Given the description of an element on the screen output the (x, y) to click on. 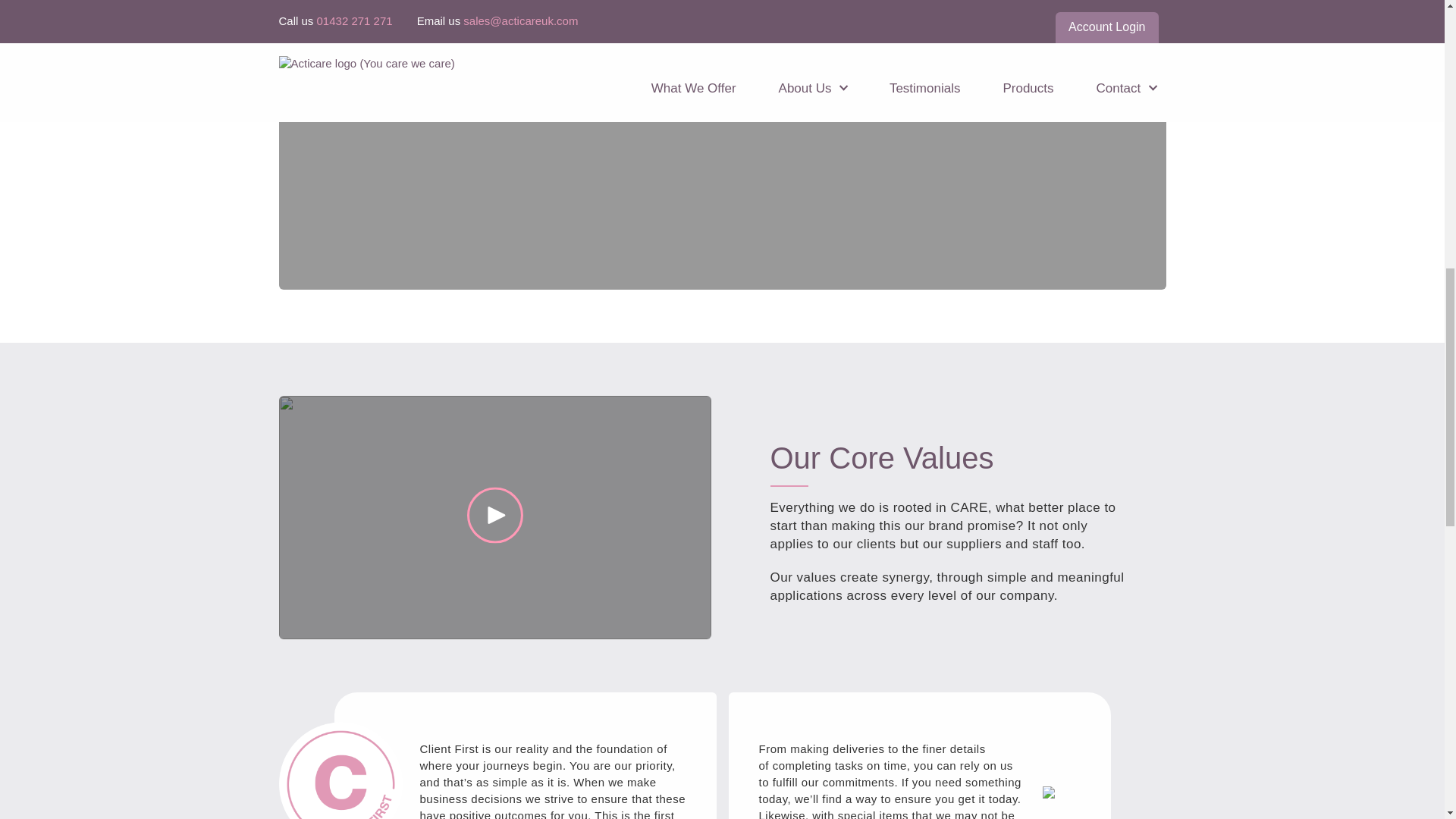
Acticare Values Video (495, 517)
